Given the description of an element on the screen output the (x, y) to click on. 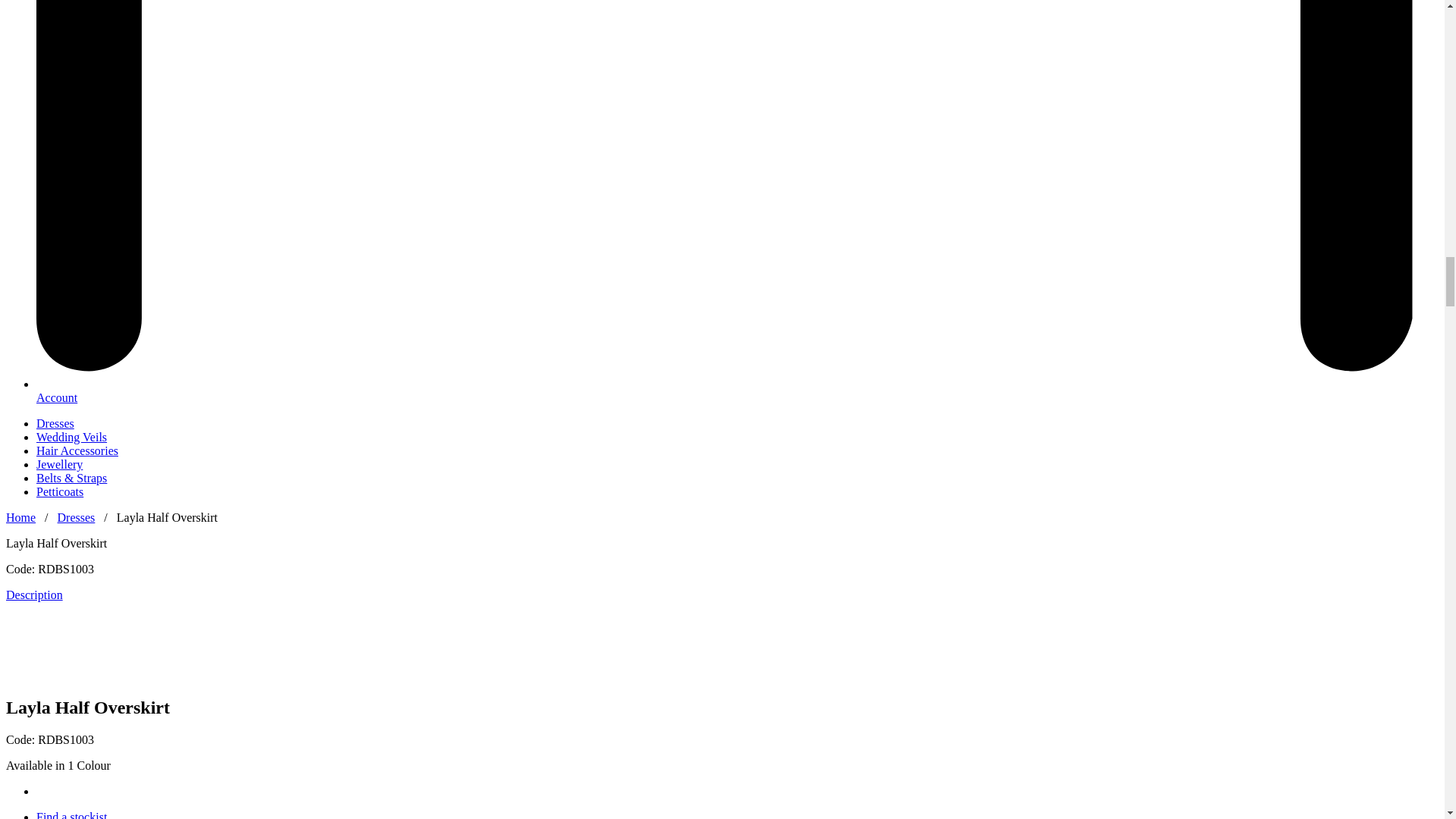
Dresses (55, 422)
Wedding Veils (71, 436)
Hair Accessories (76, 450)
Account (56, 397)
Home (19, 517)
Description (33, 594)
Dresses (77, 517)
Jewellery (59, 463)
Find a stockist (71, 814)
Petticoats (59, 491)
